Given the description of an element on the screen output the (x, y) to click on. 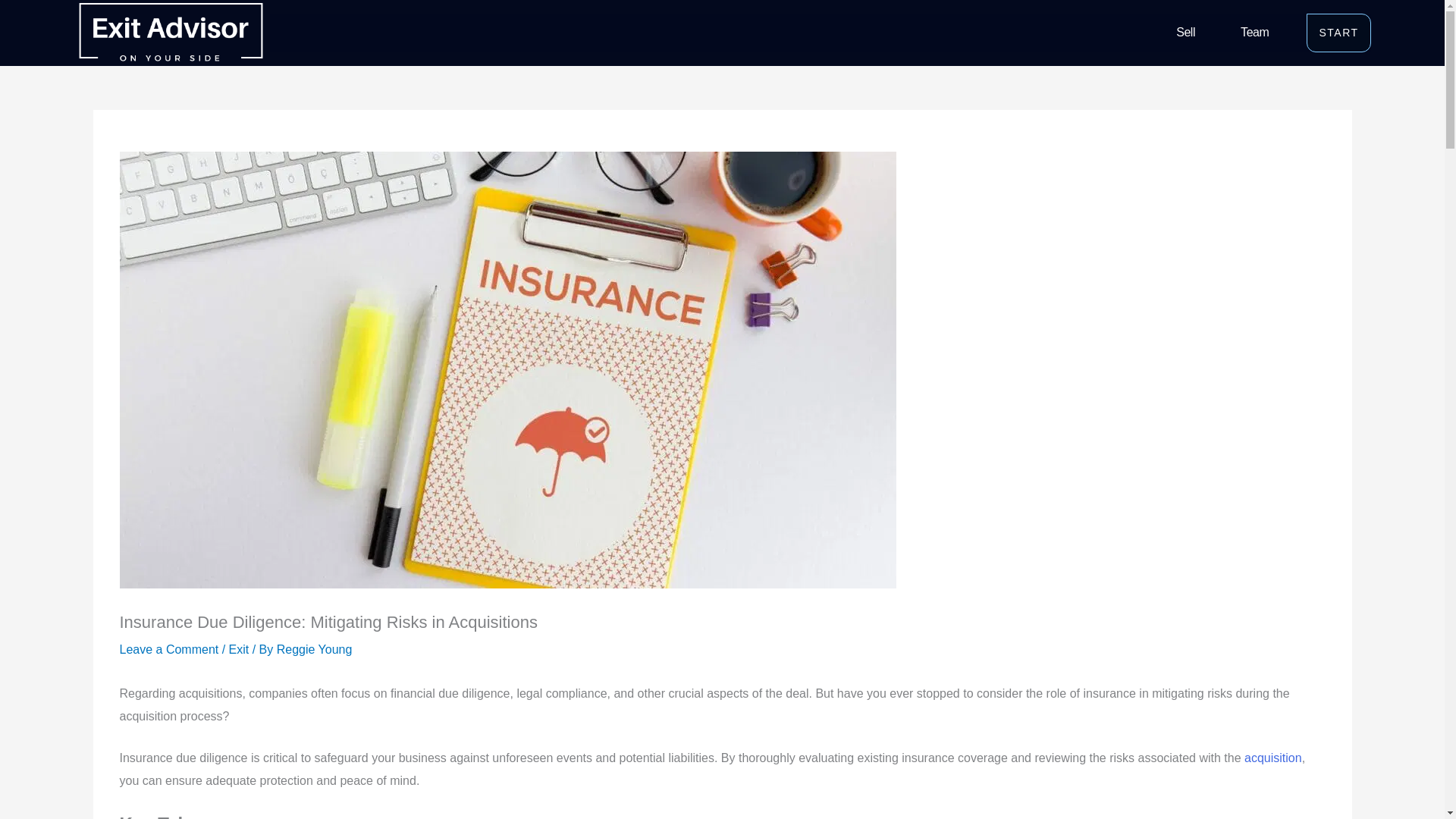
acquisition (1272, 757)
Reggie Young (314, 649)
Exit (238, 649)
Leave a Comment (169, 649)
View all posts by Reggie Young (314, 649)
START (1338, 32)
acquisition (1272, 757)
Team (1254, 32)
Sell (1185, 32)
